Given the description of an element on the screen output the (x, y) to click on. 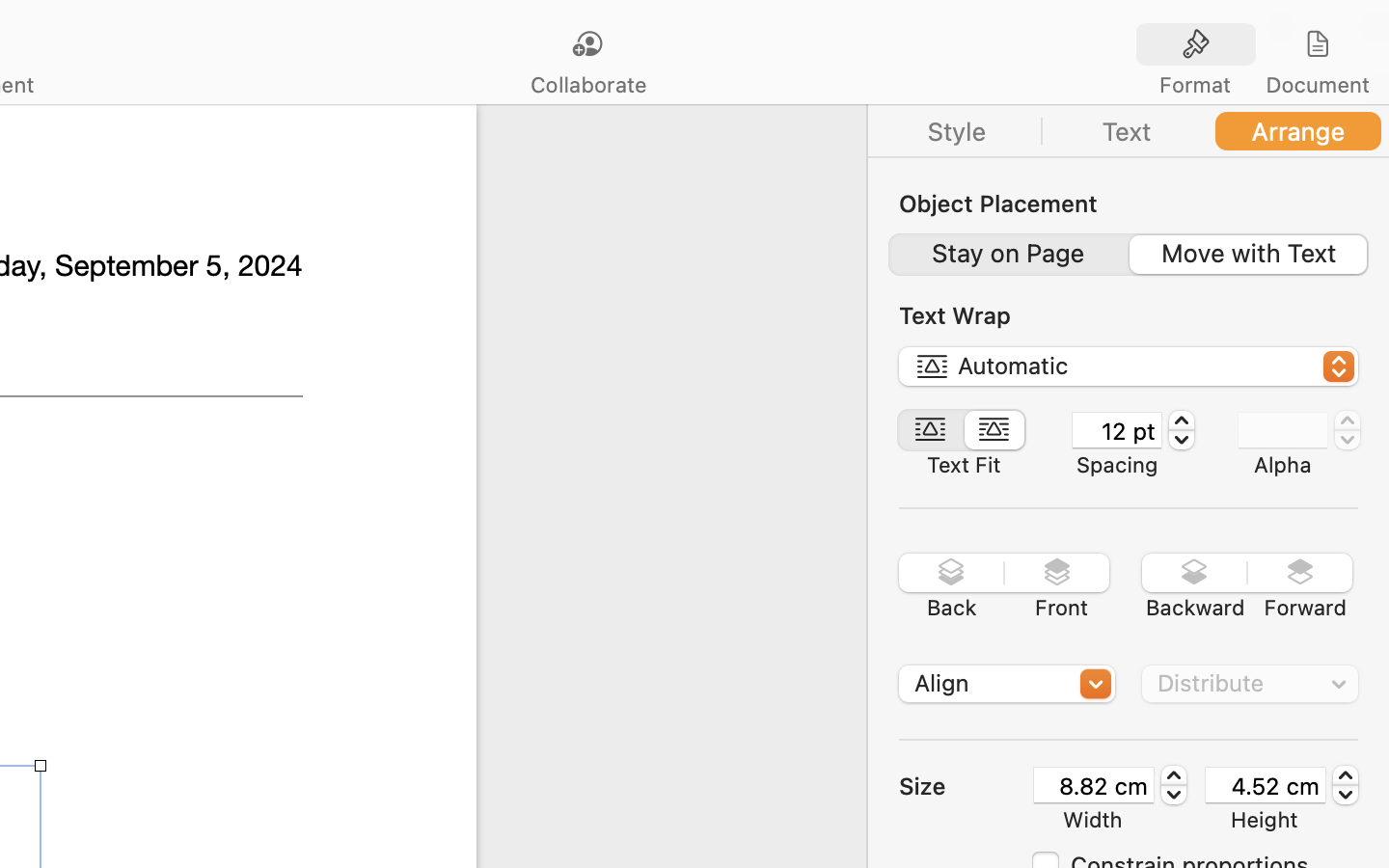
<AXUIElement 0x293d52790> {pid=1482} Element type: AXRadioGroup (1128, 131)
250.0 Element type: AXIncrementor (1173, 785)
4.52 cm Element type: AXTextField (1265, 784)
Format Element type: AXStaticText (1194, 84)
Width Element type: AXStaticText (1092, 819)
